Given the description of an element on the screen output the (x, y) to click on. 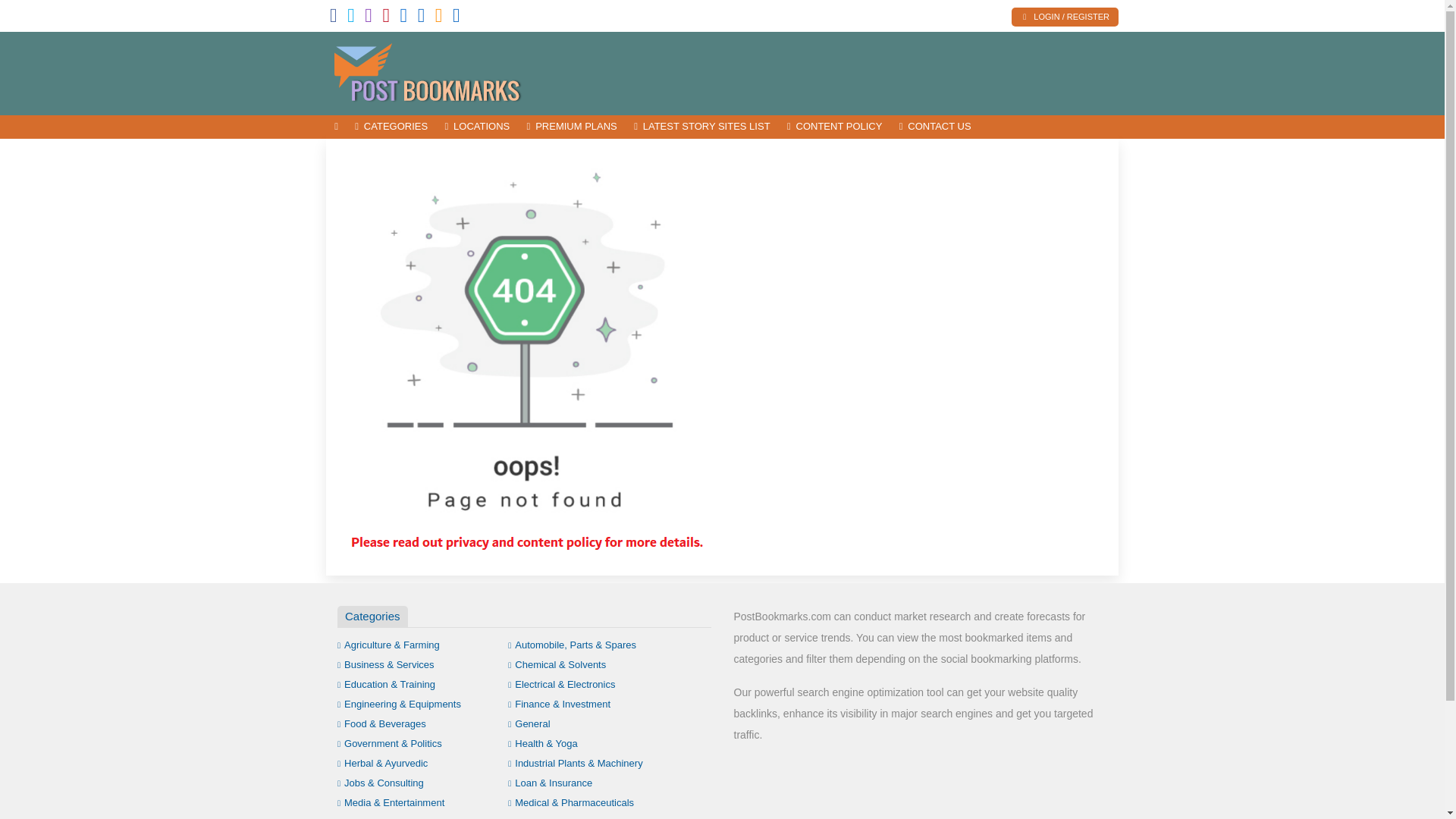
CONTACT US (935, 126)
CATEGORIES (390, 126)
General (529, 723)
CONTENT POLICY (834, 126)
LOCATIONS (476, 126)
LATEST STORY SITES LIST (702, 126)
PREMIUM PLANS (572, 126)
